Given the description of an element on the screen output the (x, y) to click on. 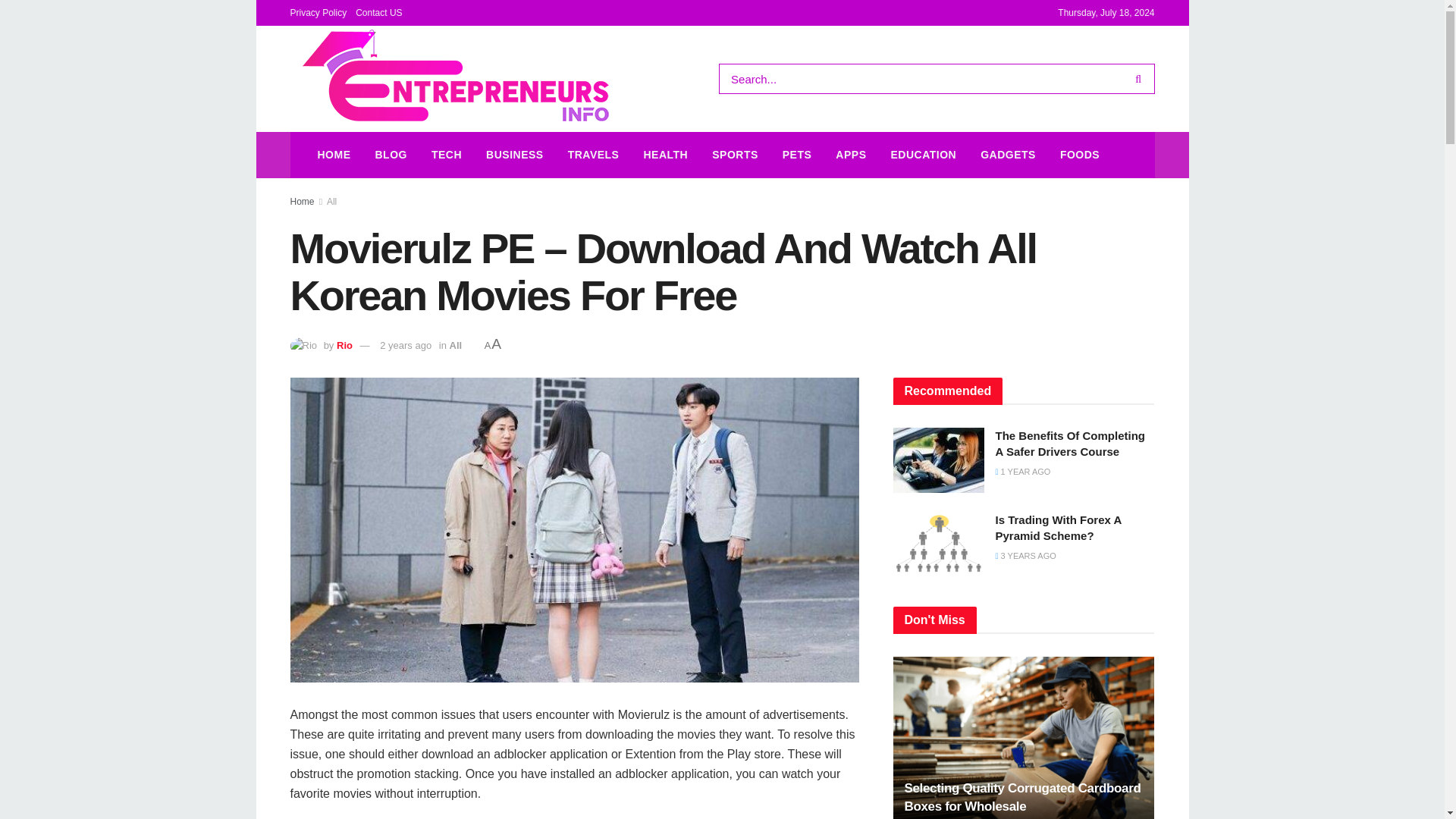
Contact US (378, 12)
HEALTH (665, 154)
SPORTS (735, 154)
Home (301, 201)
TRAVELS (593, 154)
PETS (797, 154)
2 years ago (405, 345)
Privacy Policy (317, 12)
GADGETS (1008, 154)
All (331, 201)
All (456, 345)
TECH (446, 154)
EDUCATION (922, 154)
APPS (850, 154)
BUSINESS (515, 154)
